Given the description of an element on the screen output the (x, y) to click on. 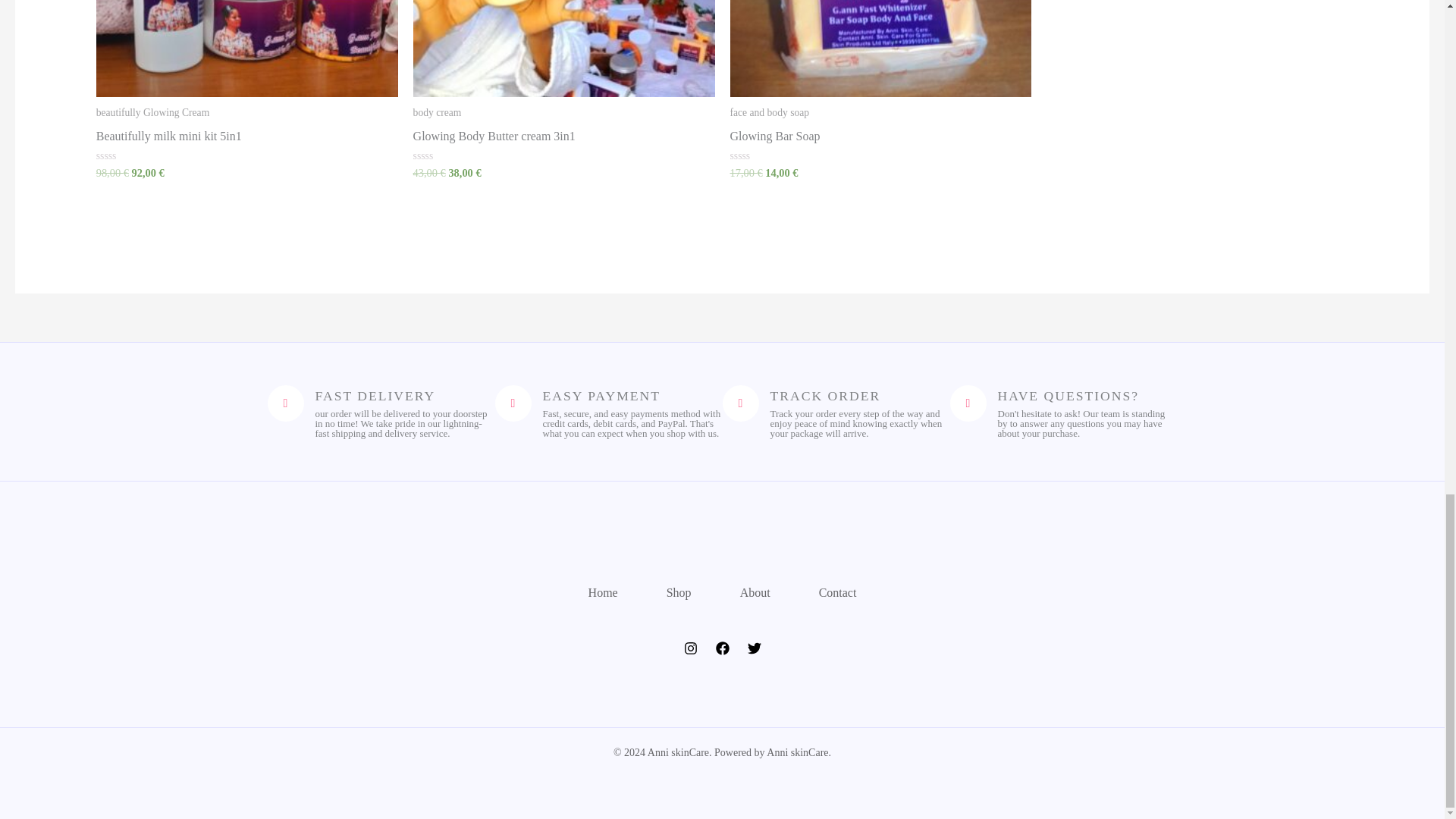
Beautifully milk mini kit 5in1 (246, 139)
